Given the description of an element on the screen output the (x, y) to click on. 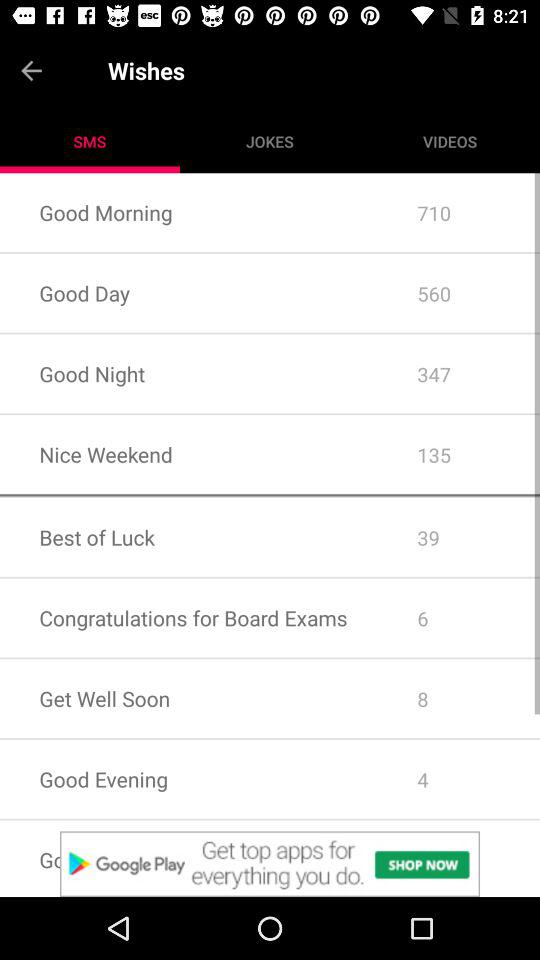
tap 135 app (458, 454)
